Given the description of an element on the screen output the (x, y) to click on. 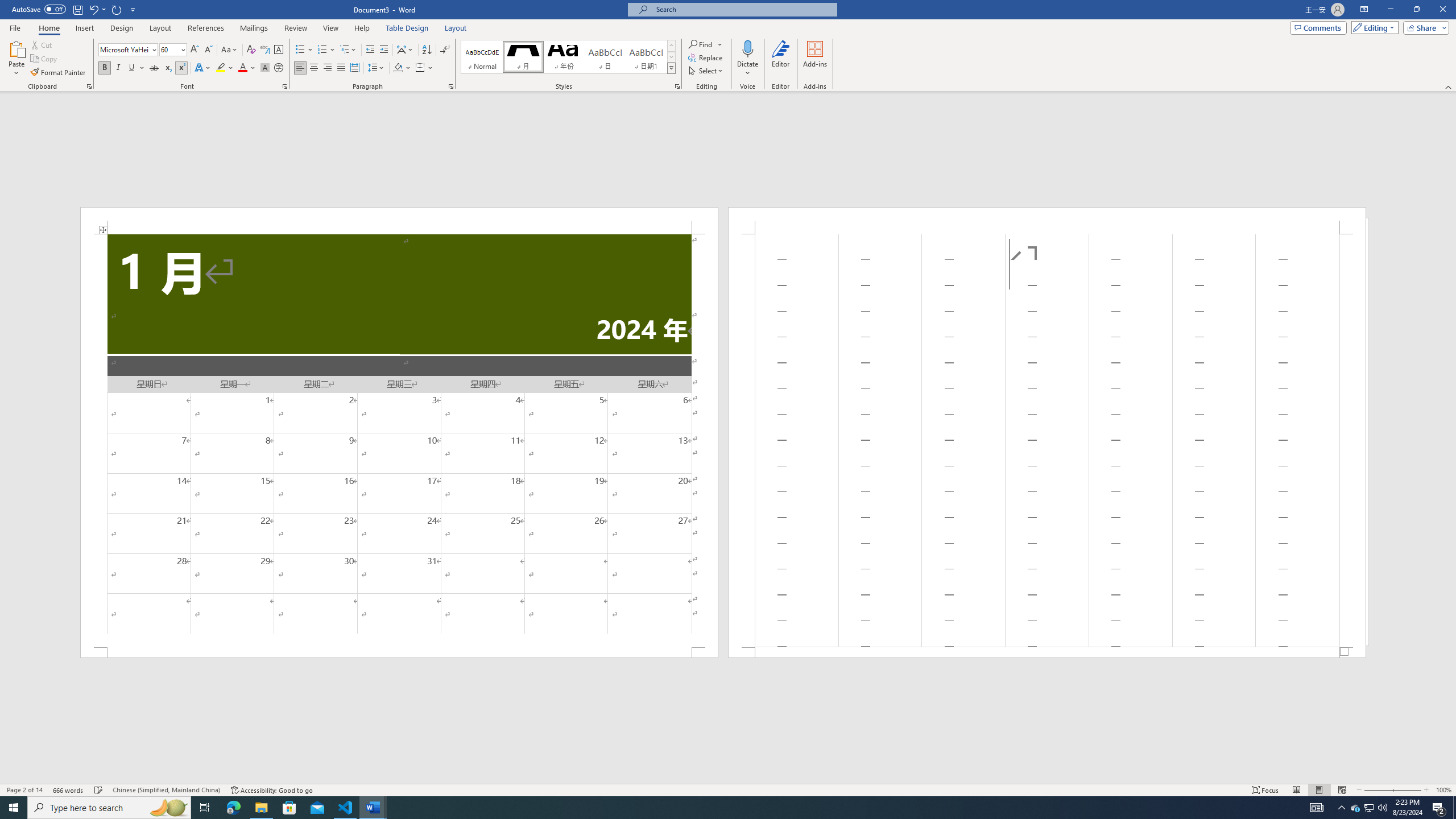
Paste (16, 58)
Decrease Indent (370, 49)
More Options (747, 68)
Footer -Section 1- (1046, 652)
View (330, 28)
Undo Superscript (96, 9)
File Tab (15, 27)
Multilevel List (347, 49)
Cut (42, 44)
Shrink Font (208, 49)
Line and Paragraph Spacing (376, 67)
Quick Access Toolbar (74, 9)
